Given the description of an element on the screen output the (x, y) to click on. 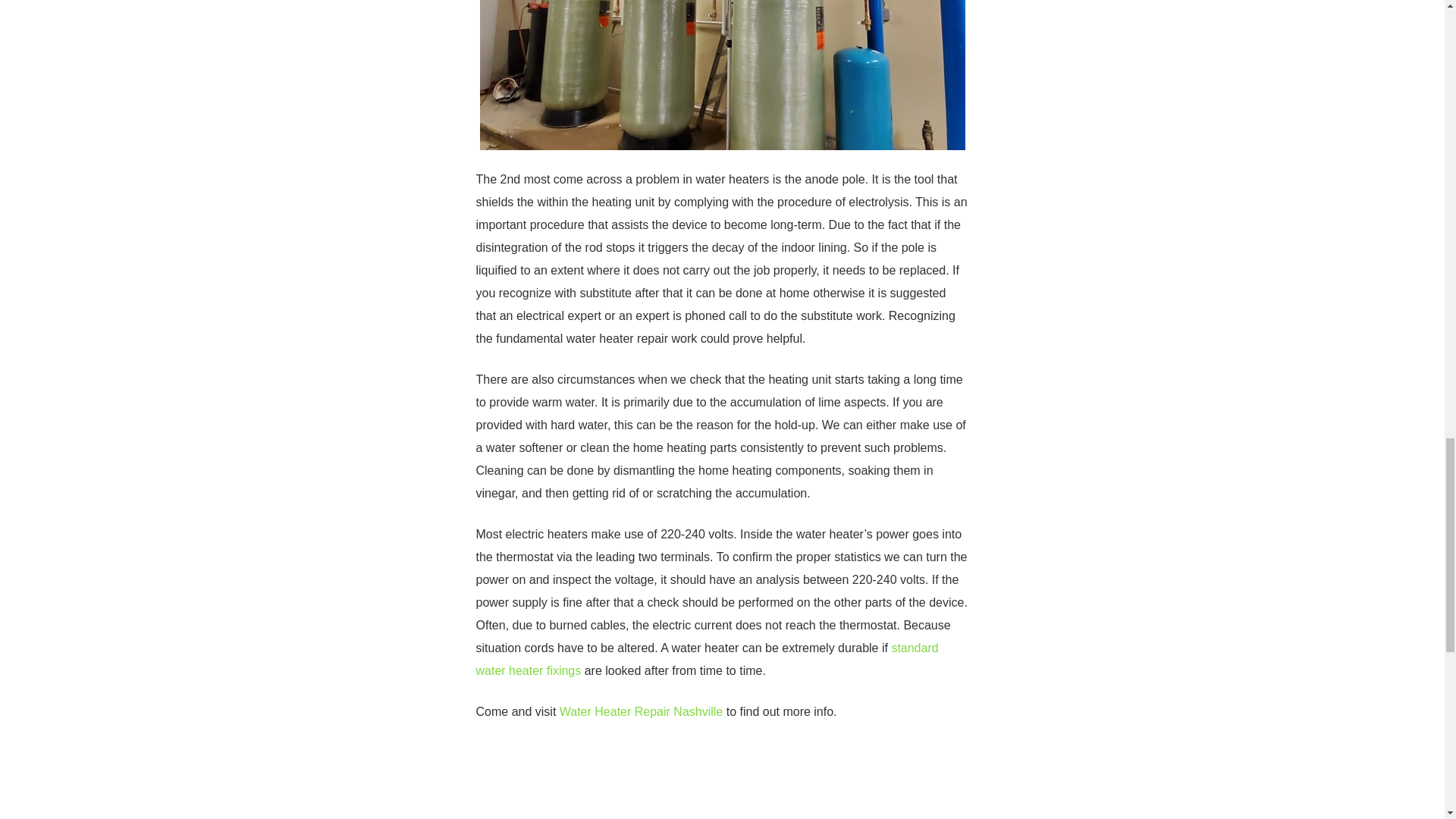
Water Heater Repair Nashville (640, 711)
standard water heater fixings (707, 659)
YouTube video player (721, 780)
